Given the description of an element on the screen output the (x, y) to click on. 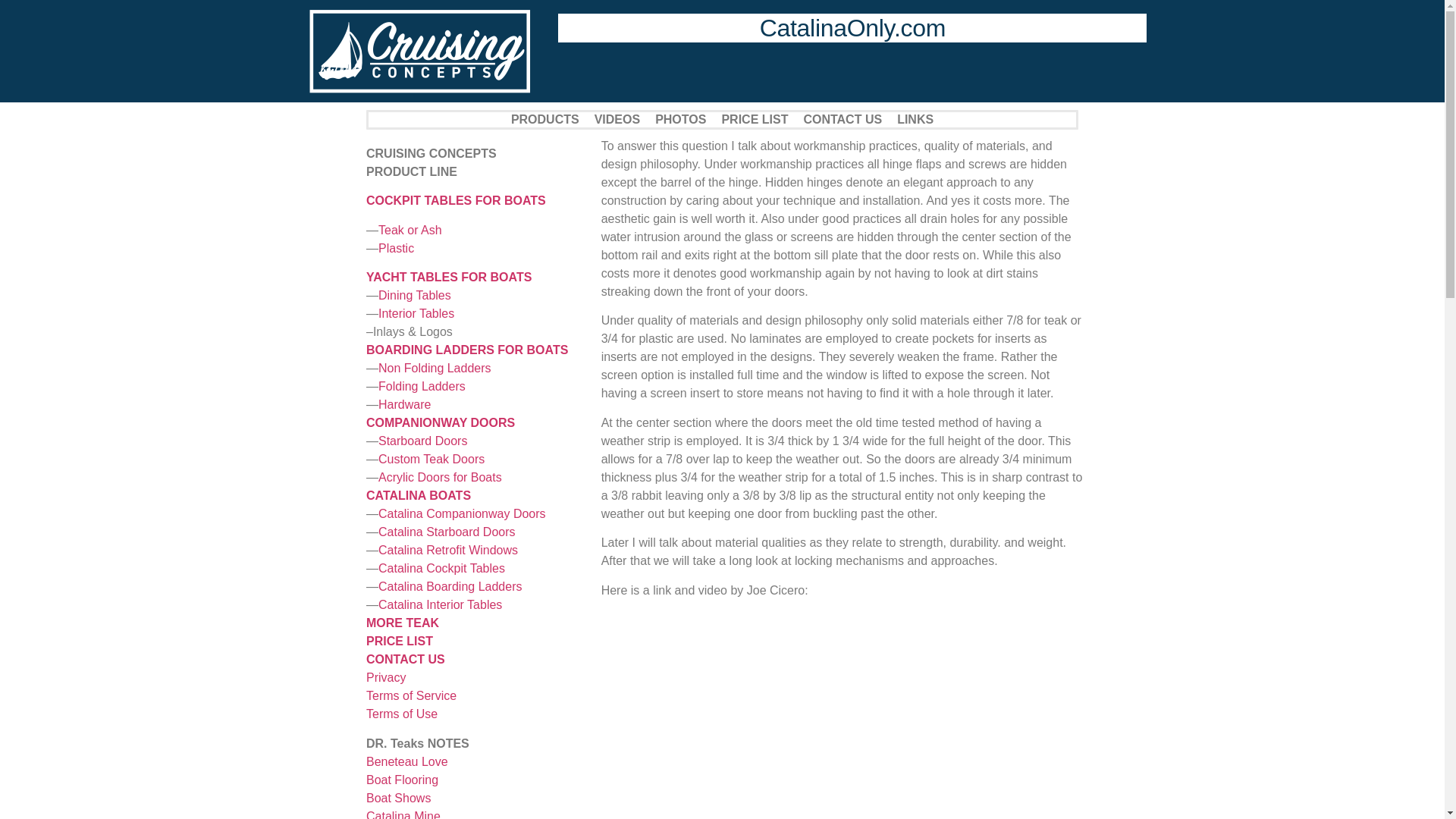
PHOTOS (680, 119)
Hatch Board Replacement... Companionway Door Measurement (843, 714)
PRODUCTS (544, 119)
VIDEOS (616, 119)
CatalinaOnly.com (852, 27)
